Given the description of an element on the screen output the (x, y) to click on. 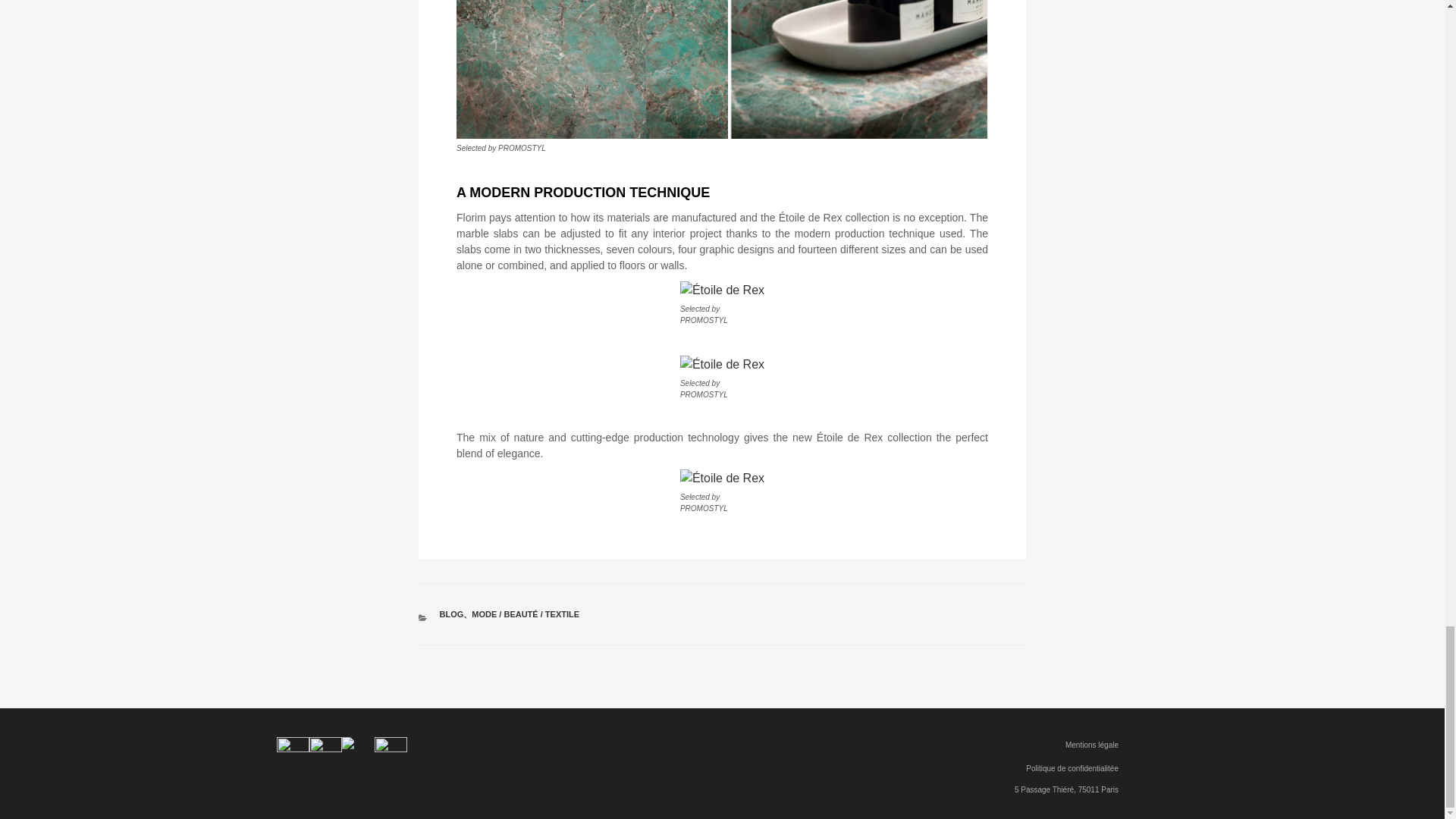
BLOG (451, 614)
